Given the description of an element on the screen output the (x, y) to click on. 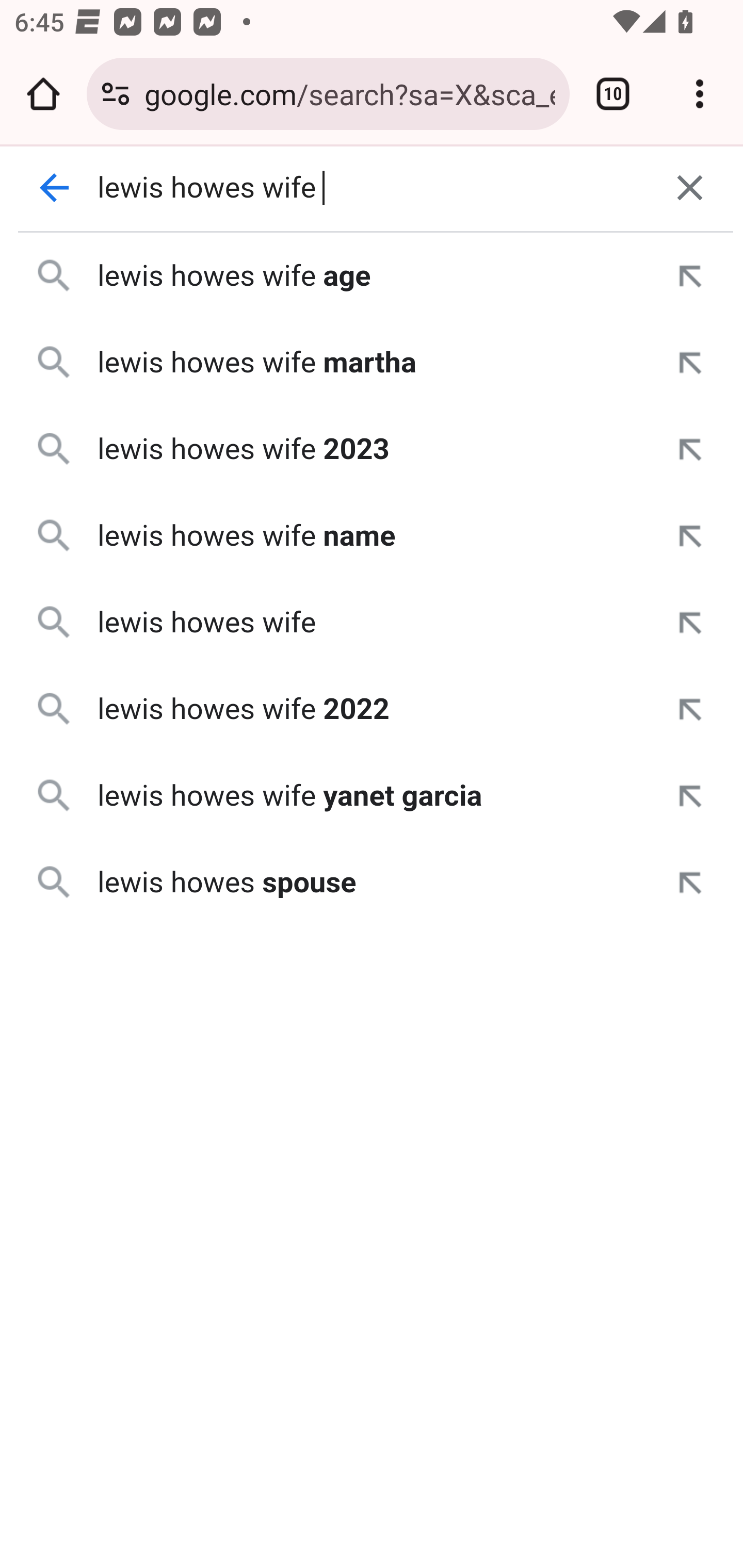
Open the home page (43, 93)
Connection is secure (115, 93)
Switch or close tabs (612, 93)
Customize and control Google Chrome (699, 93)
Back (54, 188)
Clear Search (690, 188)
lewis howes wife  (372, 188)
